Given the description of an element on the screen output the (x, y) to click on. 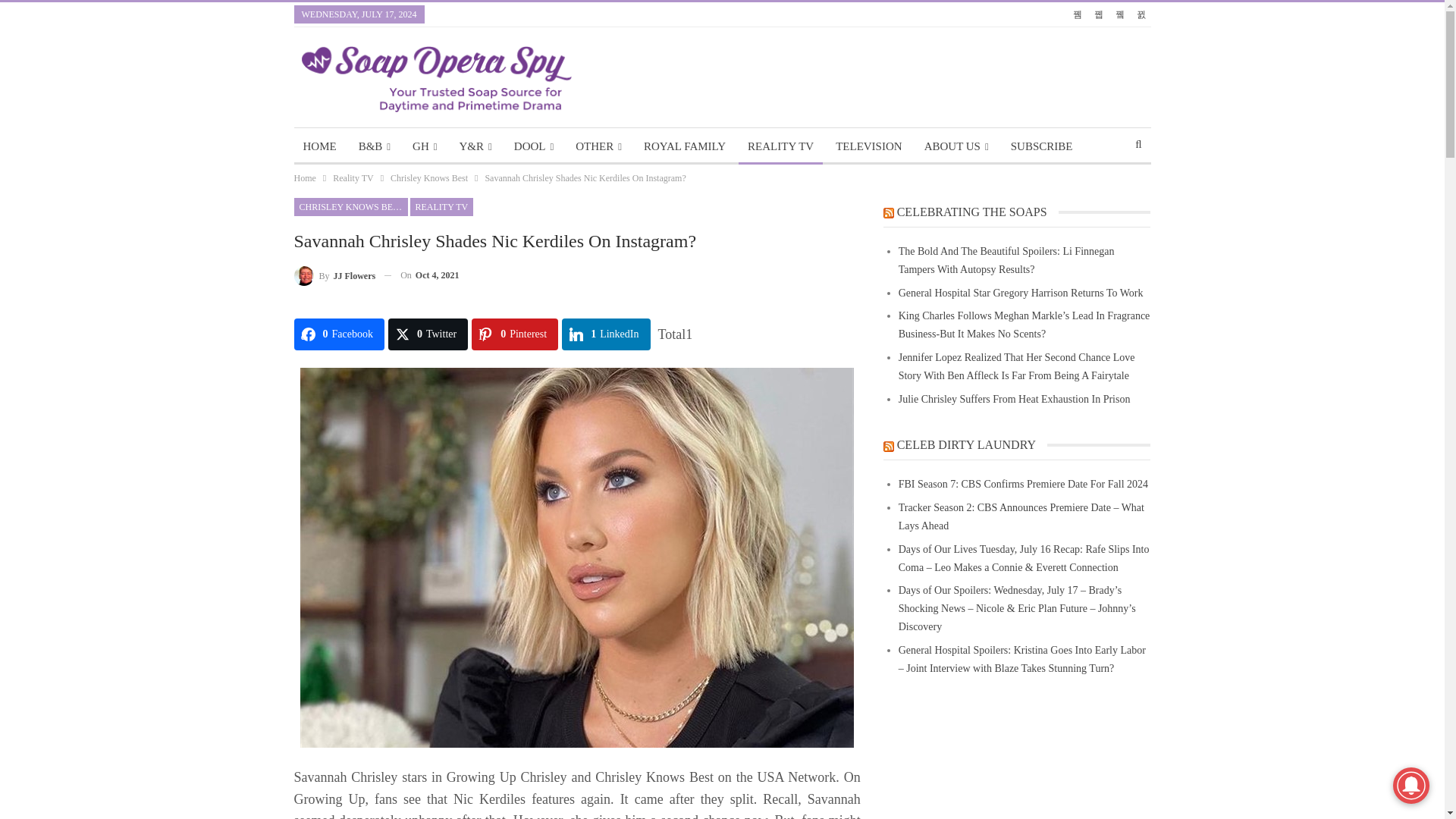
Share on Twitter (427, 334)
Total (675, 334)
Browse Author Articles (334, 275)
Share on Facebook (339, 334)
Share on Pinterest (514, 334)
Share on LinkedIn (605, 334)
